Given the description of an element on the screen output the (x, y) to click on. 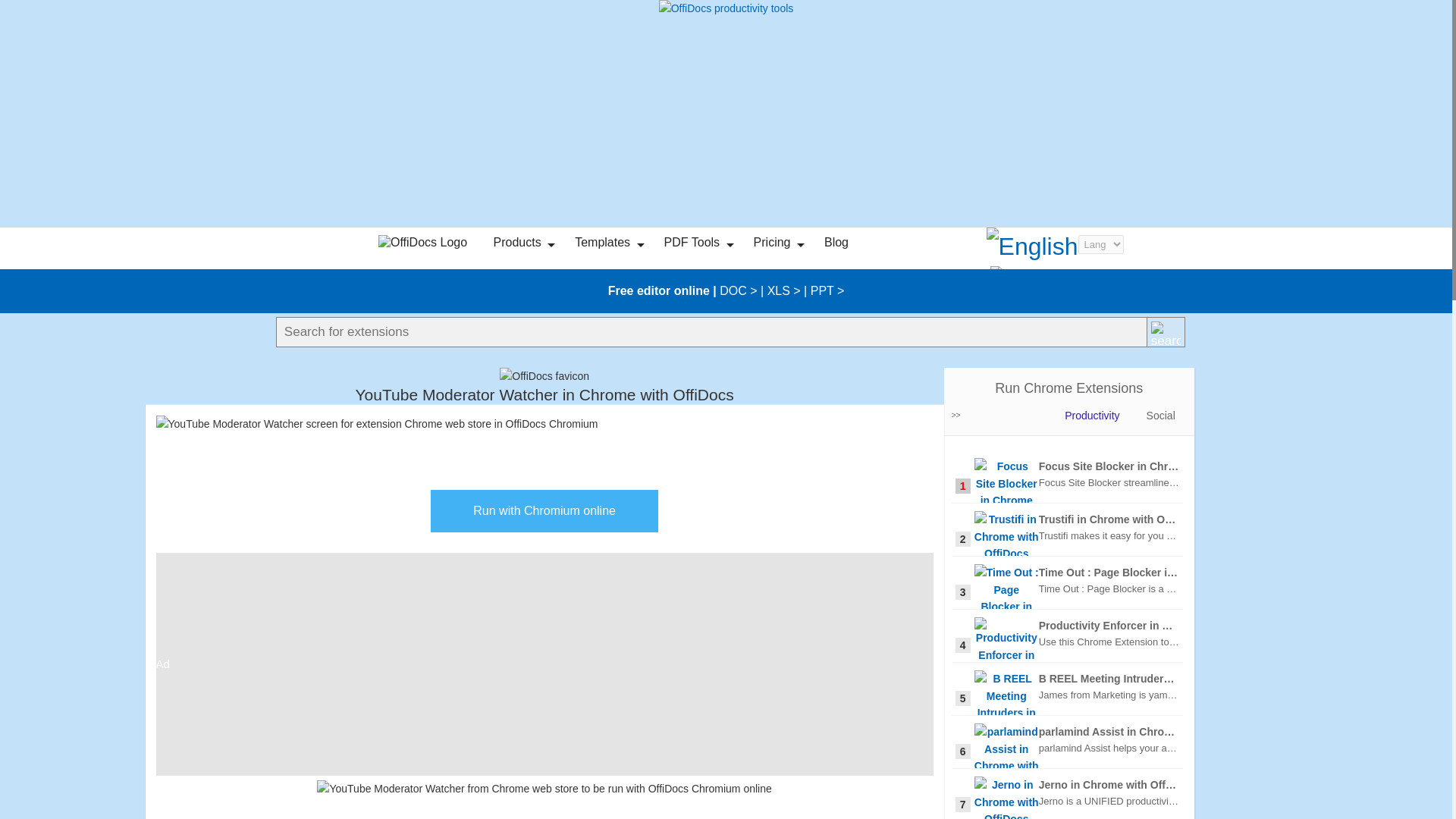
OffiDocs Logo (424, 241)
Templates (602, 241)
PDF Tools (691, 241)
Products (517, 241)
